Given the description of an element on the screen output the (x, y) to click on. 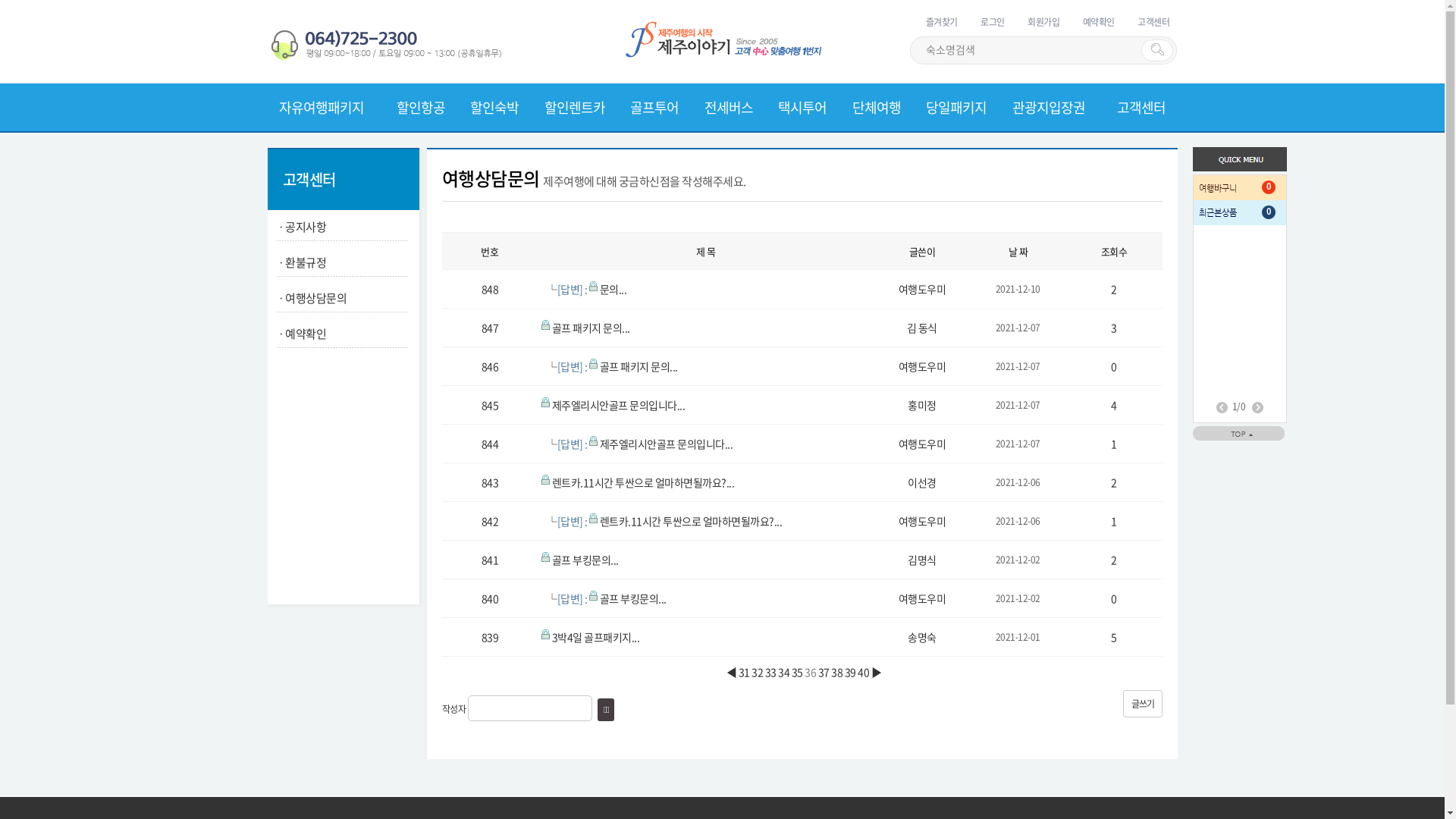
32 Element type: text (758, 671)
34 Element type: text (784, 671)
31 Element type: text (745, 671)
33 Element type: text (771, 671)
38 Element type: text (837, 671)
35 Element type: text (798, 671)
37 Element type: text (824, 671)
40 Element type: text (864, 671)
39 Element type: text (851, 671)
